Given the description of an element on the screen output the (x, y) to click on. 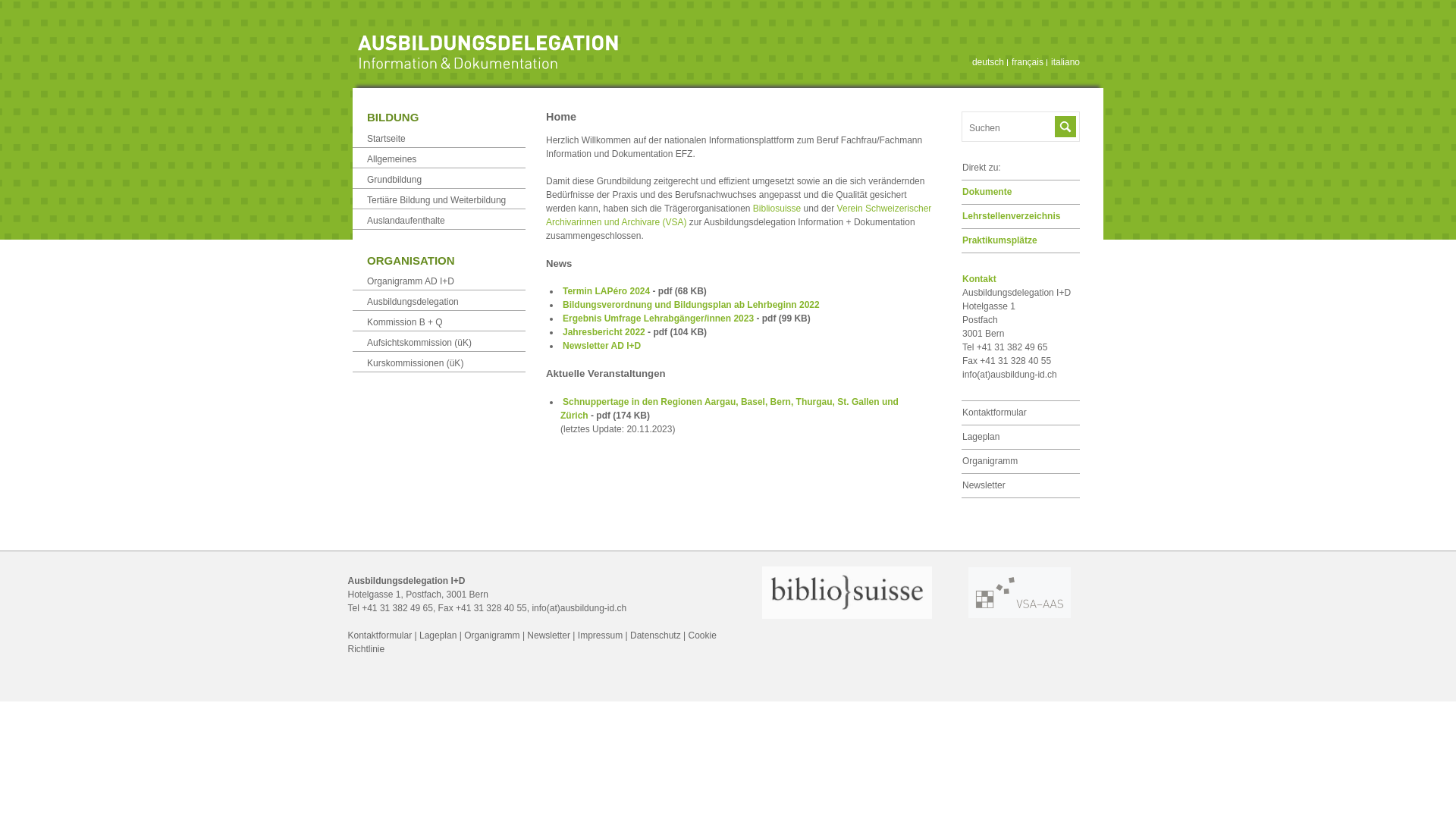
Auslandaufenthalte Element type: text (406, 220)
Ausbildungsdelegation Element type: text (412, 301)
Suchen Element type: hover (1065, 126)
Grundbildung Element type: text (394, 179)
info(at)ausbildung-id.ch Element type: text (1009, 374)
deutsch Element type: text (988, 61)
Organigramm AD I+D Element type: text (410, 281)
Organigramm Element type: text (491, 635)
Kontaktformular Element type: text (379, 635)
info(at)ausbildung-id.ch Element type: text (578, 607)
Newsletter AD I+D Element type: text (601, 345)
Impressum Element type: text (599, 635)
Dokumente Element type: text (986, 191)
Kontaktformular Element type: text (994, 412)
Allgemeines Element type: text (391, 158)
Bibliothek Information Schweiz Element type: hover (846, 615)
Bibliosuisse Element type: text (776, 208)
Kommission B + Q Element type: text (404, 322)
Startseite Element type: text (386, 138)
Organigramm Element type: text (989, 460)
italiano Element type: text (1065, 61)
Lageplan Element type: text (437, 635)
Lageplan Element type: text (980, 436)
Datenschutz Element type: text (655, 635)
+41 31 382 49 65 Element type: text (397, 607)
Verein Schweizerischer Archivarinnen und Archivare (VSA) Element type: text (738, 215)
Newsletter Element type: text (548, 635)
Cookie Richtlinie Element type: text (531, 642)
Jahresbericht 2022 - pdf (104 KB) Element type: text (634, 331)
Bildungsverordnung und Bildungsplan ab Lehrbeginn 2022 Element type: text (690, 304)
Verein Schweizerischer Archivarinnen und Archivare (VSA-AAS) Element type: hover (1019, 614)
Newsletter Element type: text (983, 485)
